Given the description of an element on the screen output the (x, y) to click on. 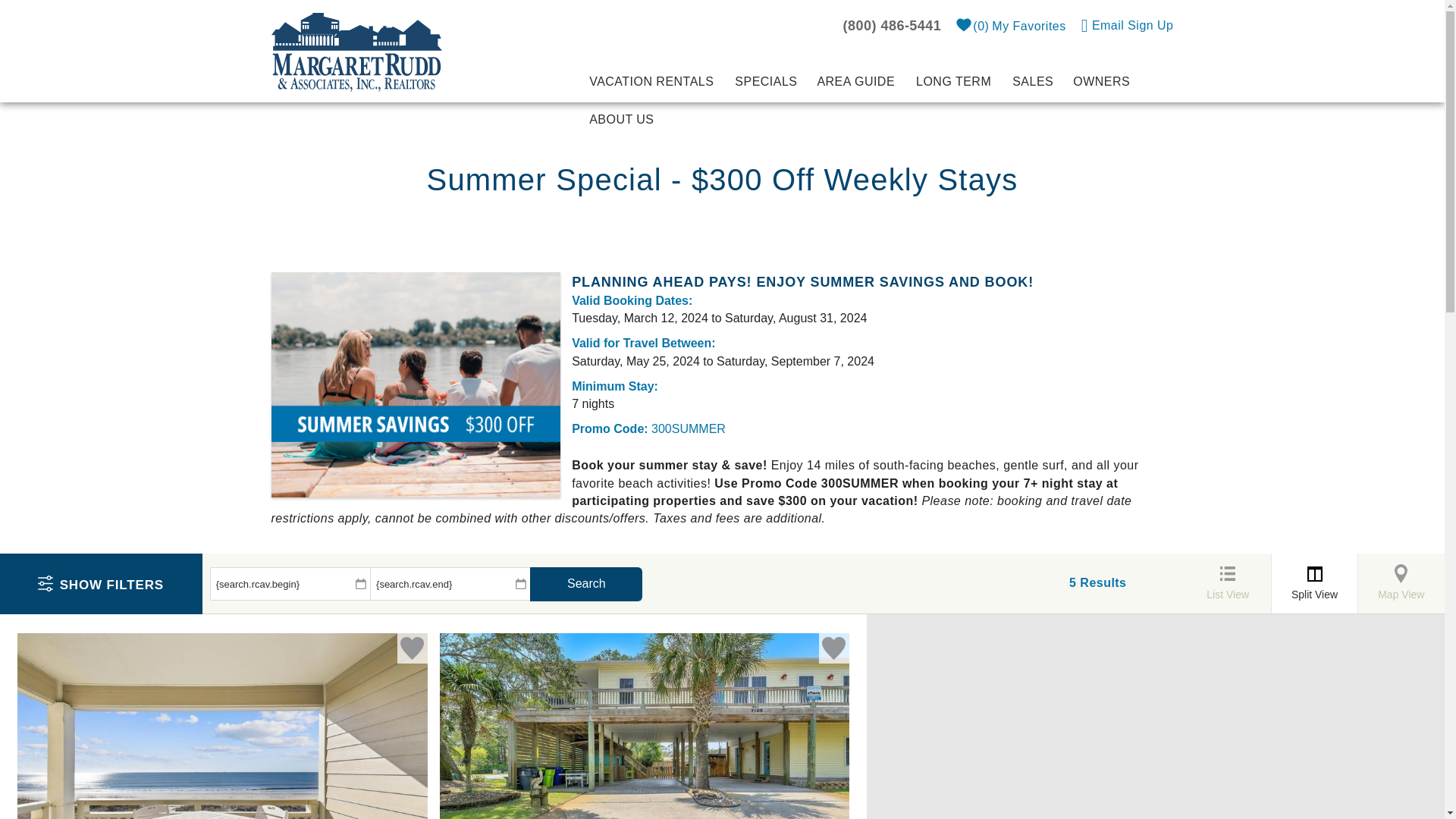
OKI Summer Special 300 OFF (415, 384)
Search (585, 584)
Home (356, 51)
Email Sign Up (1028, 25)
Skip to main content (1127, 24)
